Given the description of an element on the screen output the (x, y) to click on. 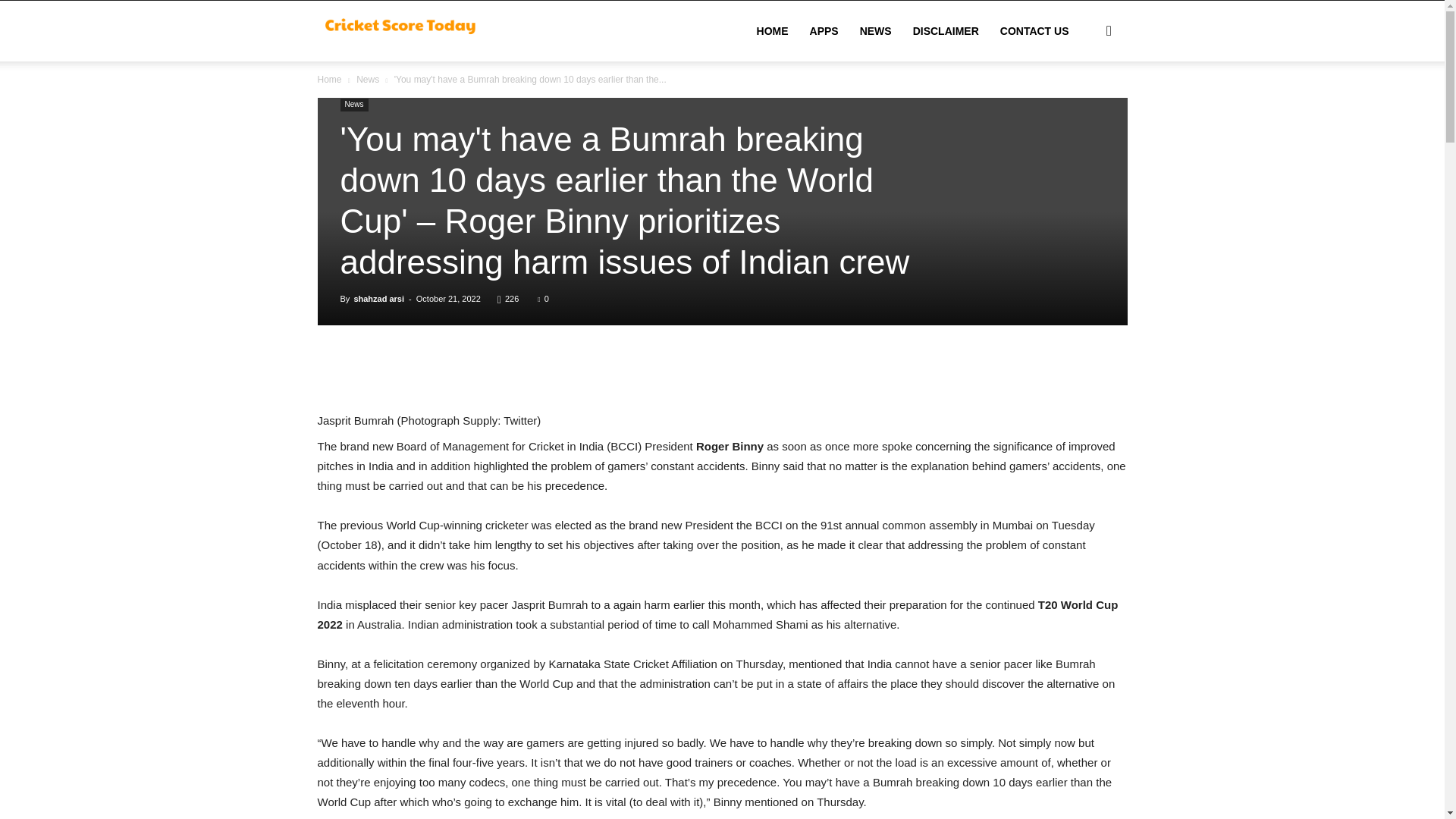
Home (328, 79)
CONTACT US (1035, 30)
0 (542, 298)
shahzad arsi (378, 298)
Search (1085, 103)
News (367, 79)
DISCLAIMER (946, 30)
View all posts in News (367, 79)
News (353, 104)
Cricket Score Today (402, 30)
